Given the description of an element on the screen output the (x, y) to click on. 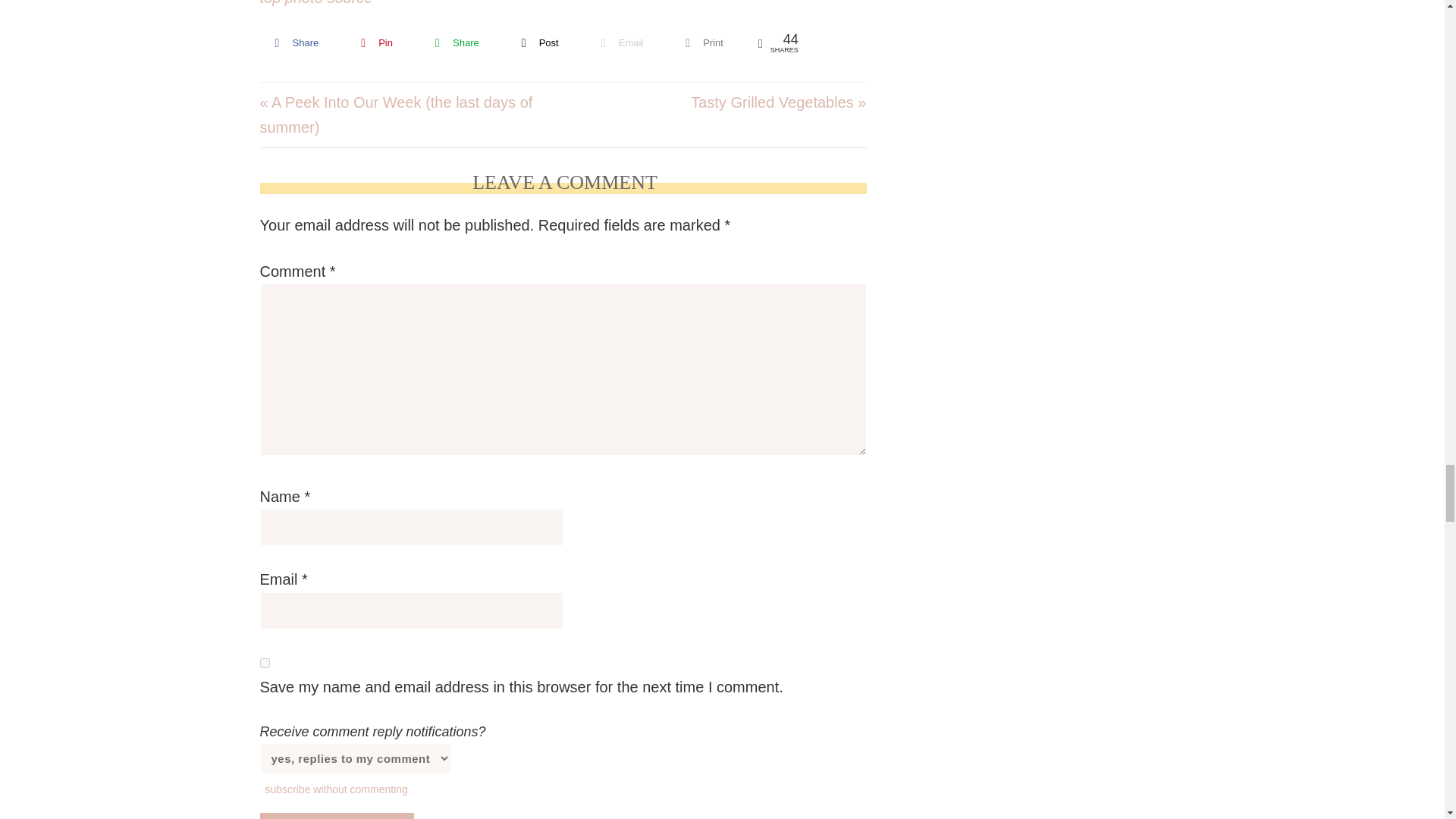
Post Comment (336, 816)
Receive Notifications? (354, 757)
yes (264, 663)
